Given the description of an element on the screen output the (x, y) to click on. 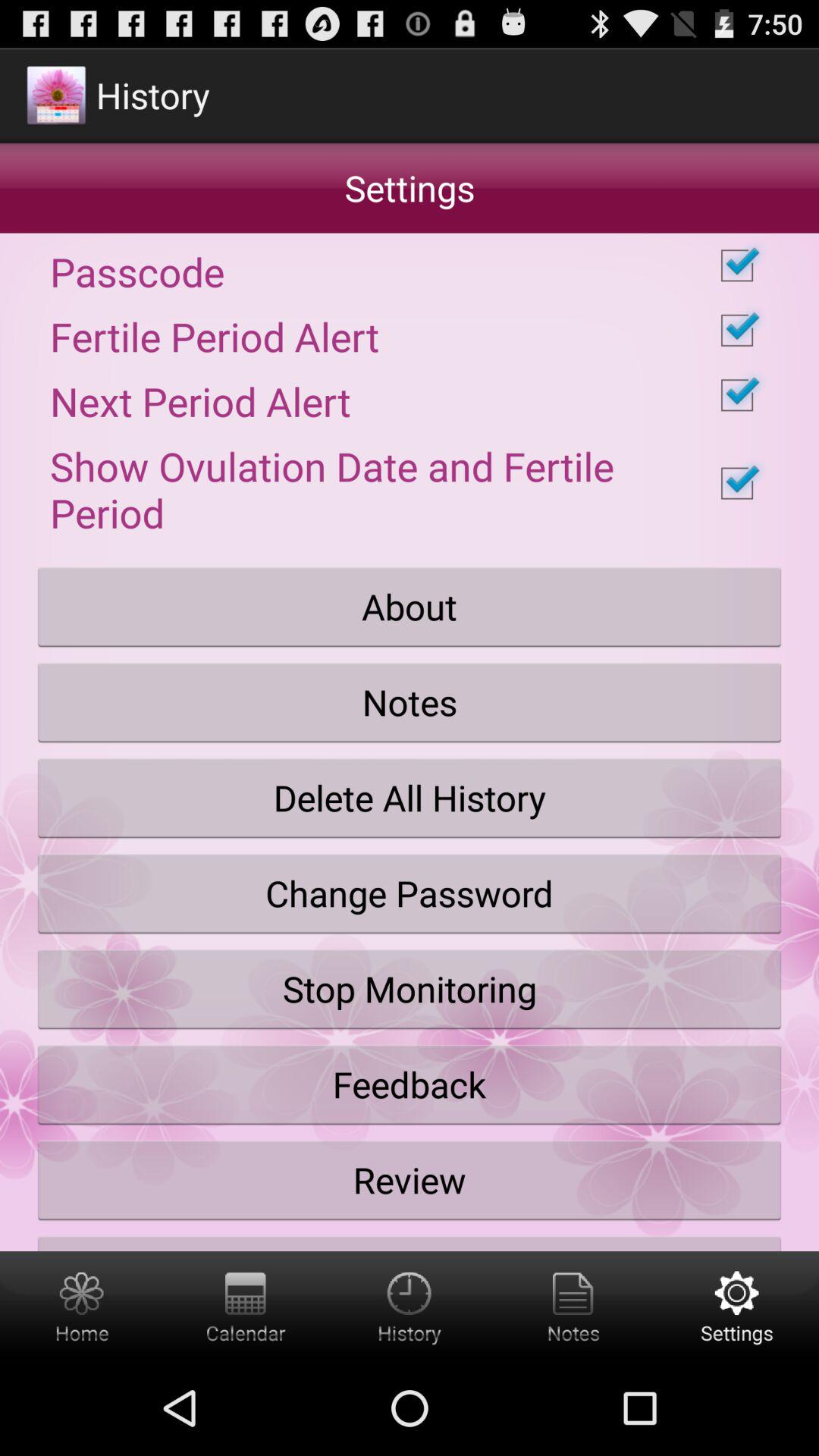
check history (409, 1305)
